Given the description of an element on the screen output the (x, y) to click on. 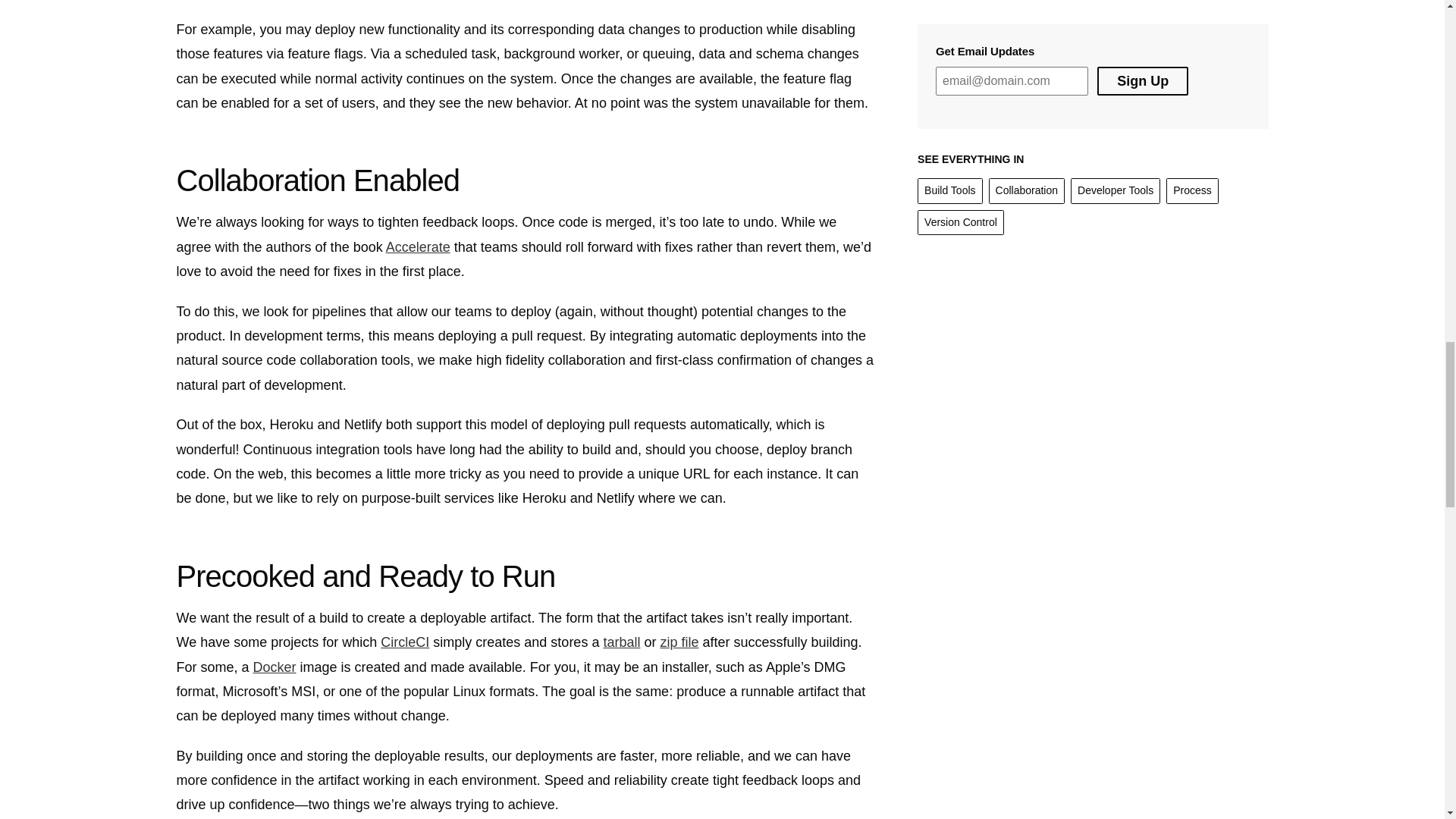
zip file (678, 642)
CircleCI (404, 642)
tarball (621, 642)
Docker (275, 667)
Accelerate (417, 246)
